Given the description of an element on the screen output the (x, y) to click on. 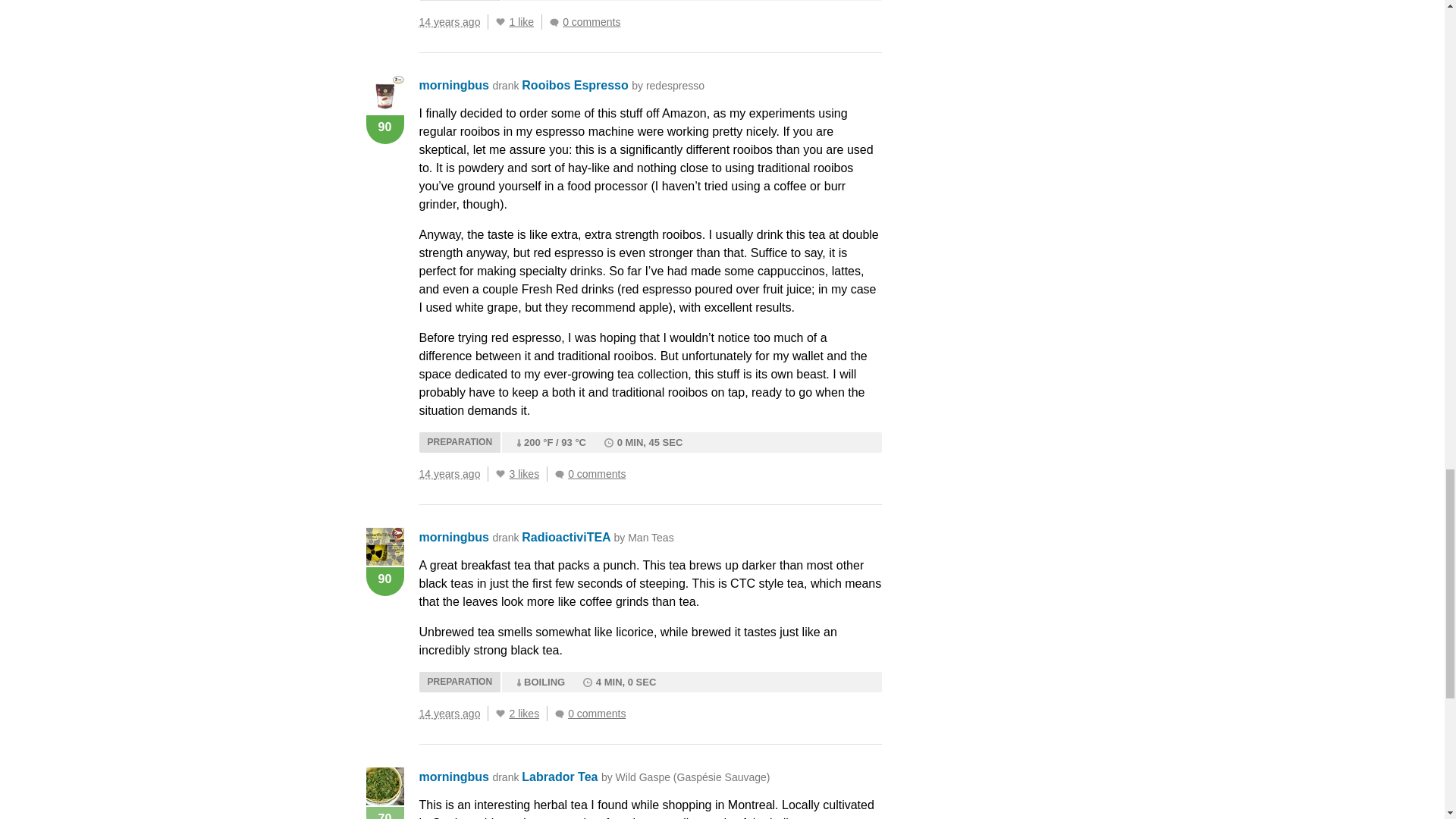
2010-03-16T01:07:54Z (449, 21)
Like This (500, 713)
2010-02-18T16:22:03Z (449, 713)
2010-03-13T07:33:58Z (449, 473)
Like This (500, 473)
Like This (500, 21)
